Given the description of an element on the screen output the (x, y) to click on. 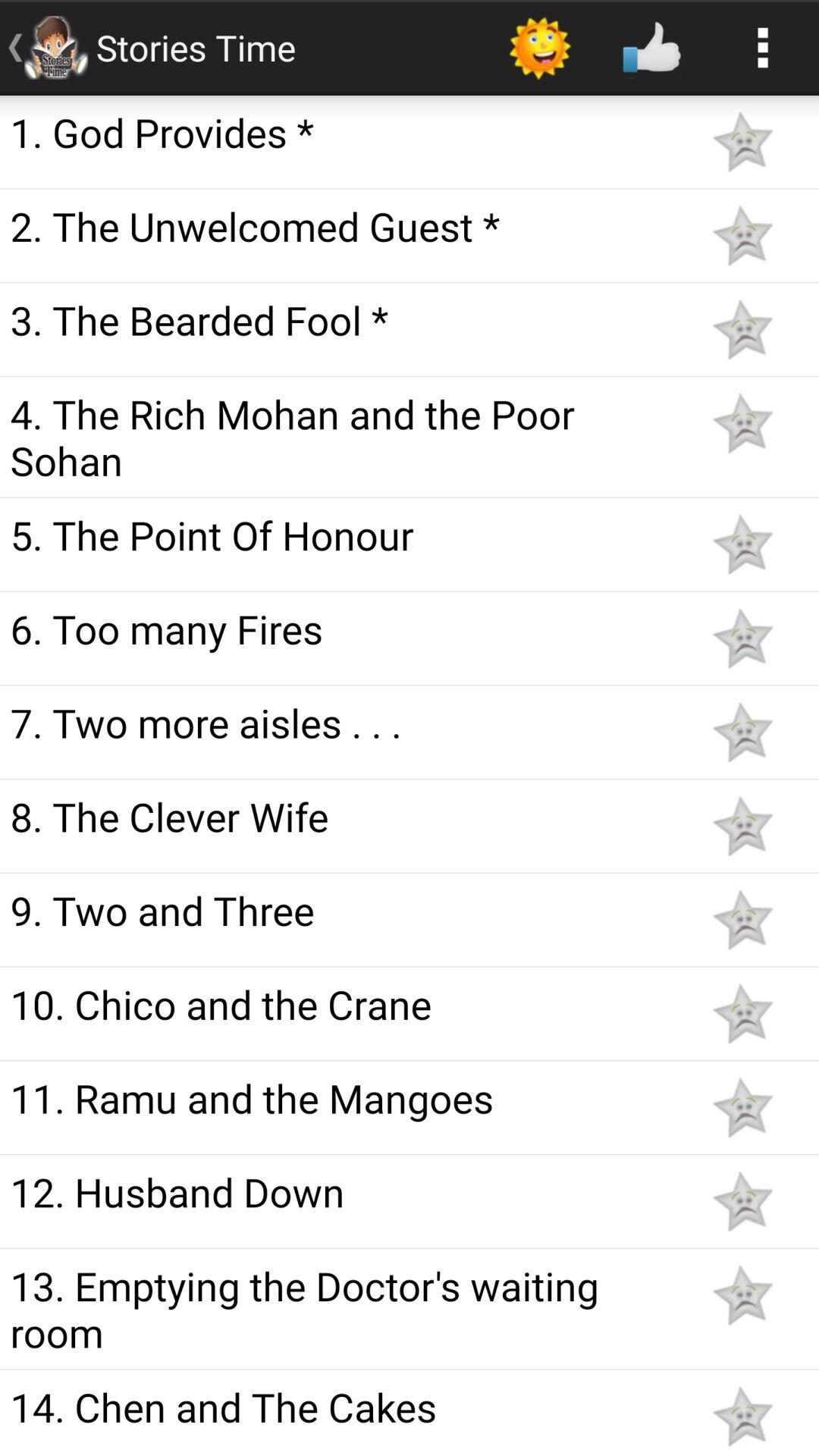
like the image (742, 1013)
